Given the description of an element on the screen output the (x, y) to click on. 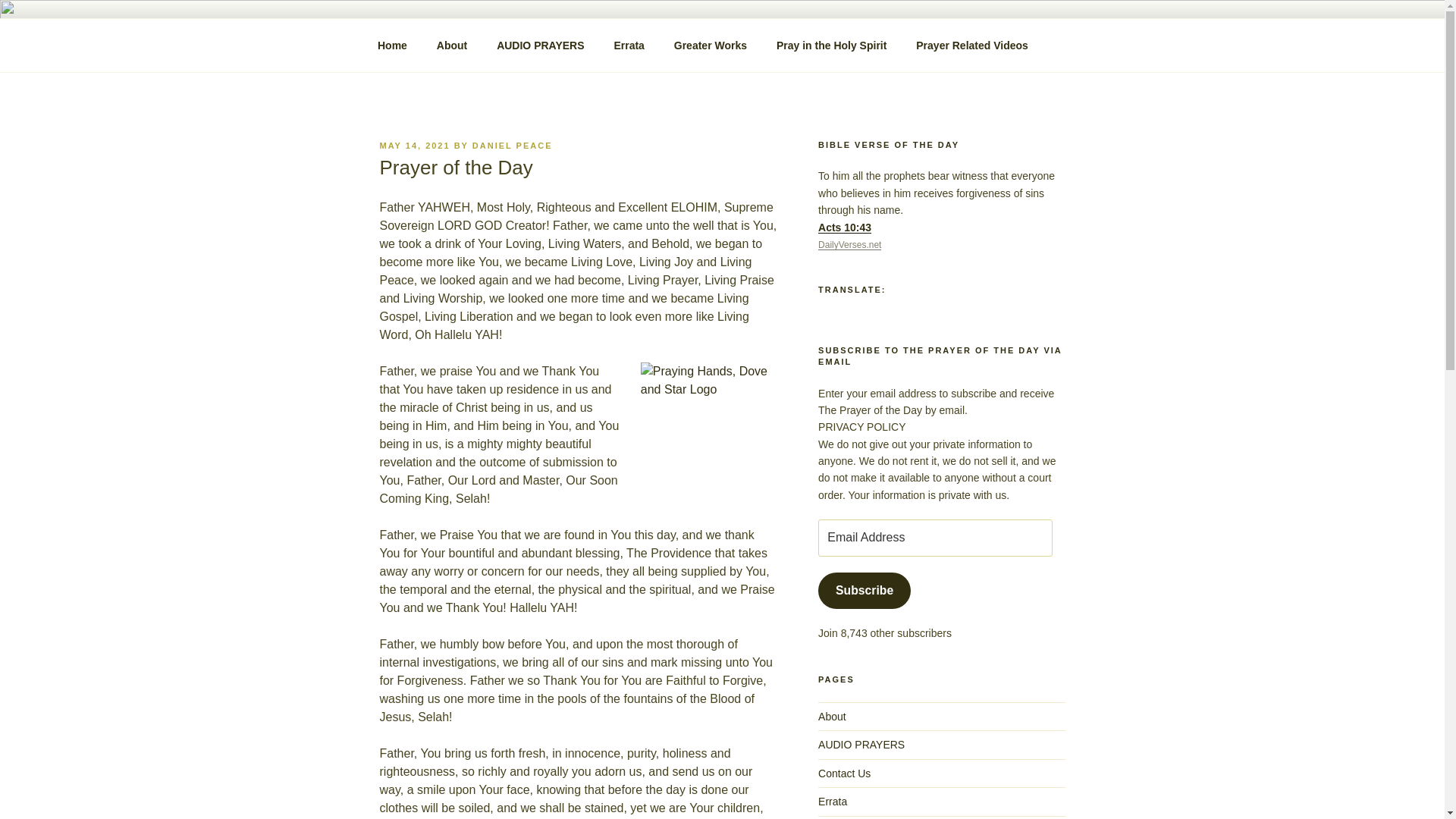
AUDIO PRAYERS (539, 45)
AUDIO PRAYERS (861, 744)
Errata (628, 45)
MAY 14, 2021 (413, 144)
Contact Us (844, 773)
About (451, 45)
Errata (832, 801)
DANIEL PEACE (512, 144)
Prayer Related Videos (972, 45)
Greater Works (710, 45)
